Given the description of an element on the screen output the (x, y) to click on. 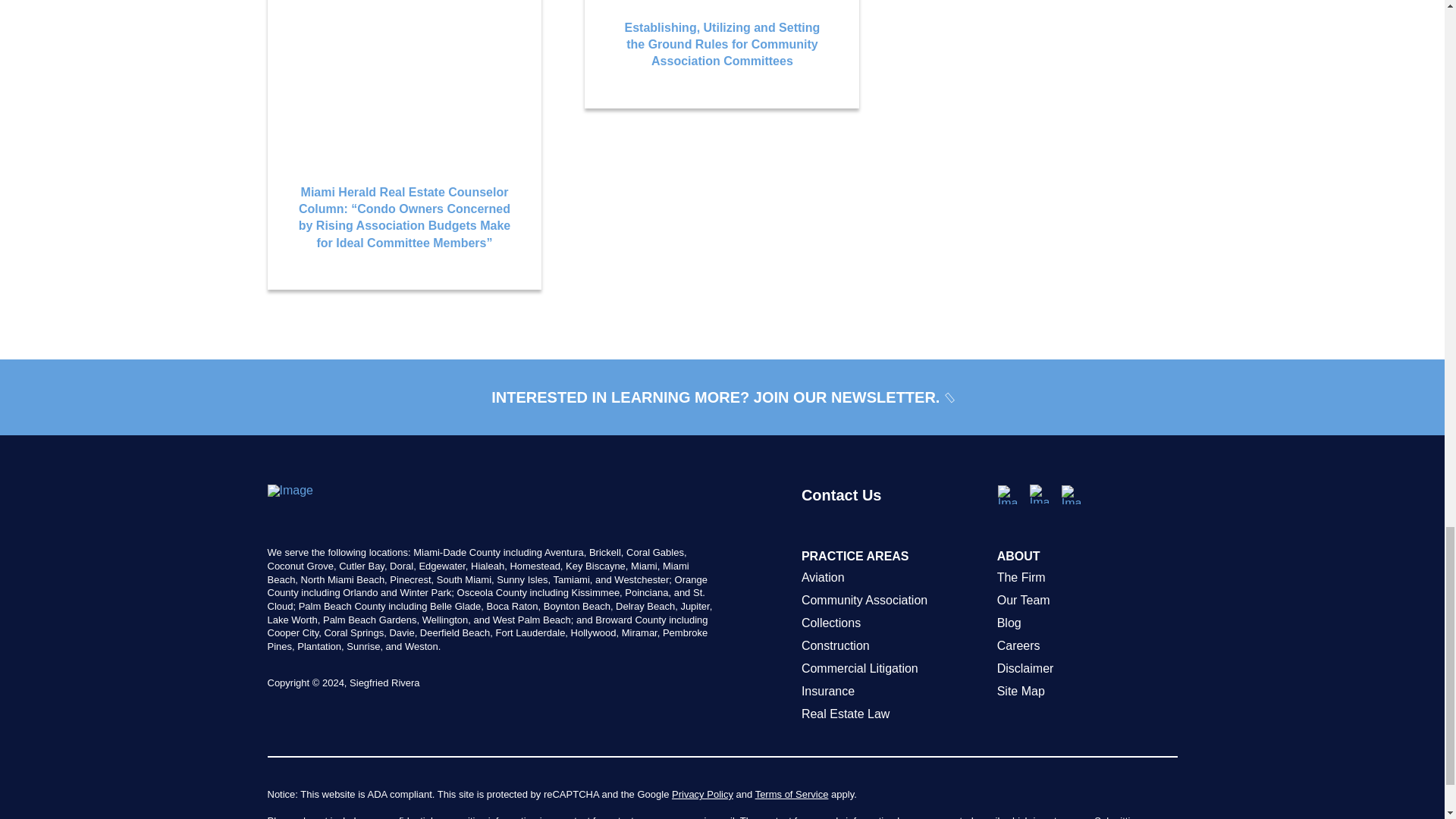
Community Association (891, 599)
Aviation (891, 577)
Contact Us (891, 515)
